Given the description of an element on the screen output the (x, y) to click on. 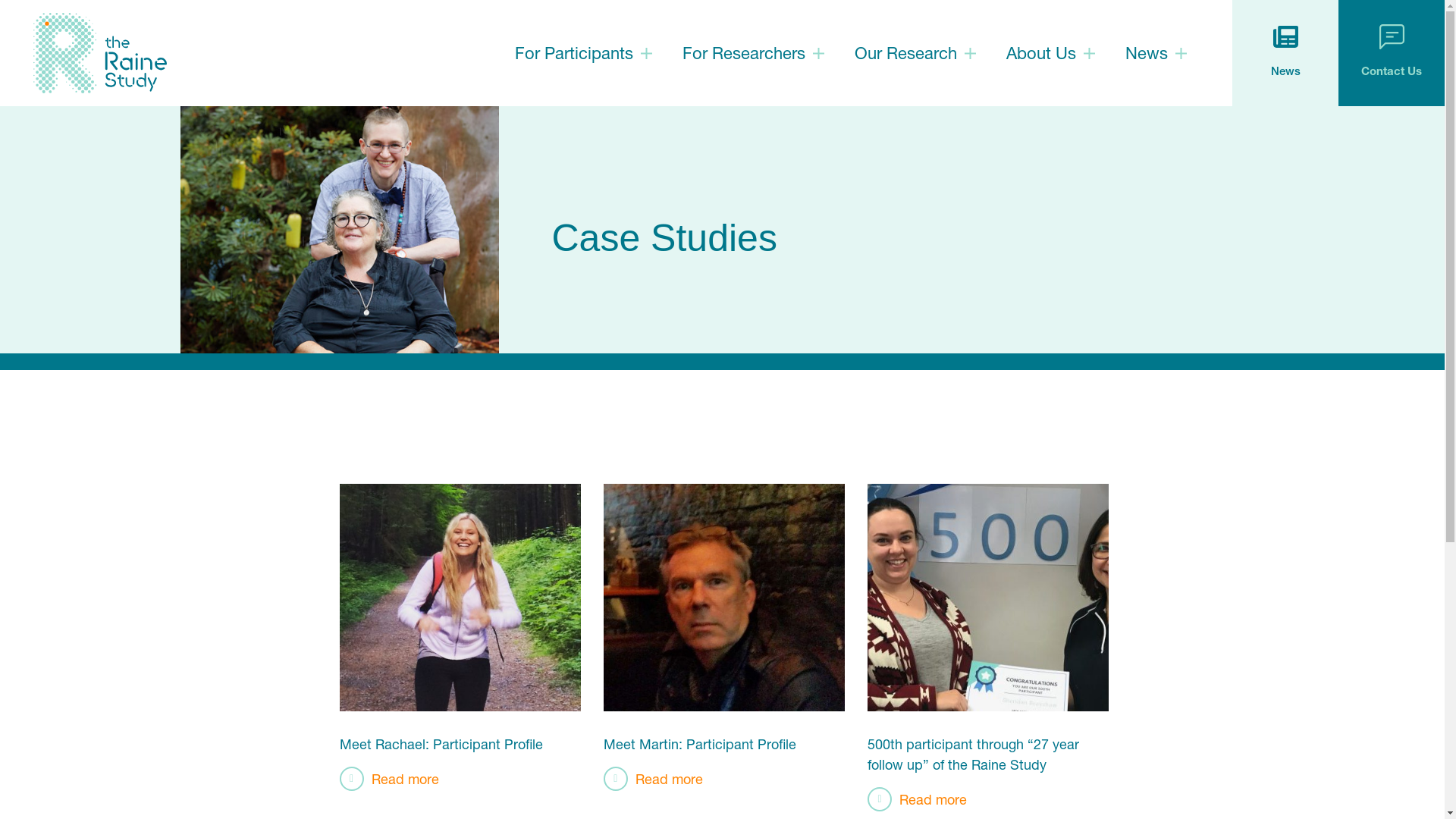
Contact Us Element type: text (1391, 53)
Meet Martin: Participant Profile Element type: text (699, 743)
About Us Element type: text (1041, 53)
News Element type: text (1146, 53)
For Participants Element type: text (573, 53)
News Element type: text (1285, 53)
Meet Rachael: Participant Profile Element type: text (440, 743)
Read more Element type: text (652, 778)
Our Research Element type: text (905, 53)
For Researchers Element type: text (743, 53)
Read more Element type: text (389, 778)
Read more Element type: text (916, 799)
